Given the description of an element on the screen output the (x, y) to click on. 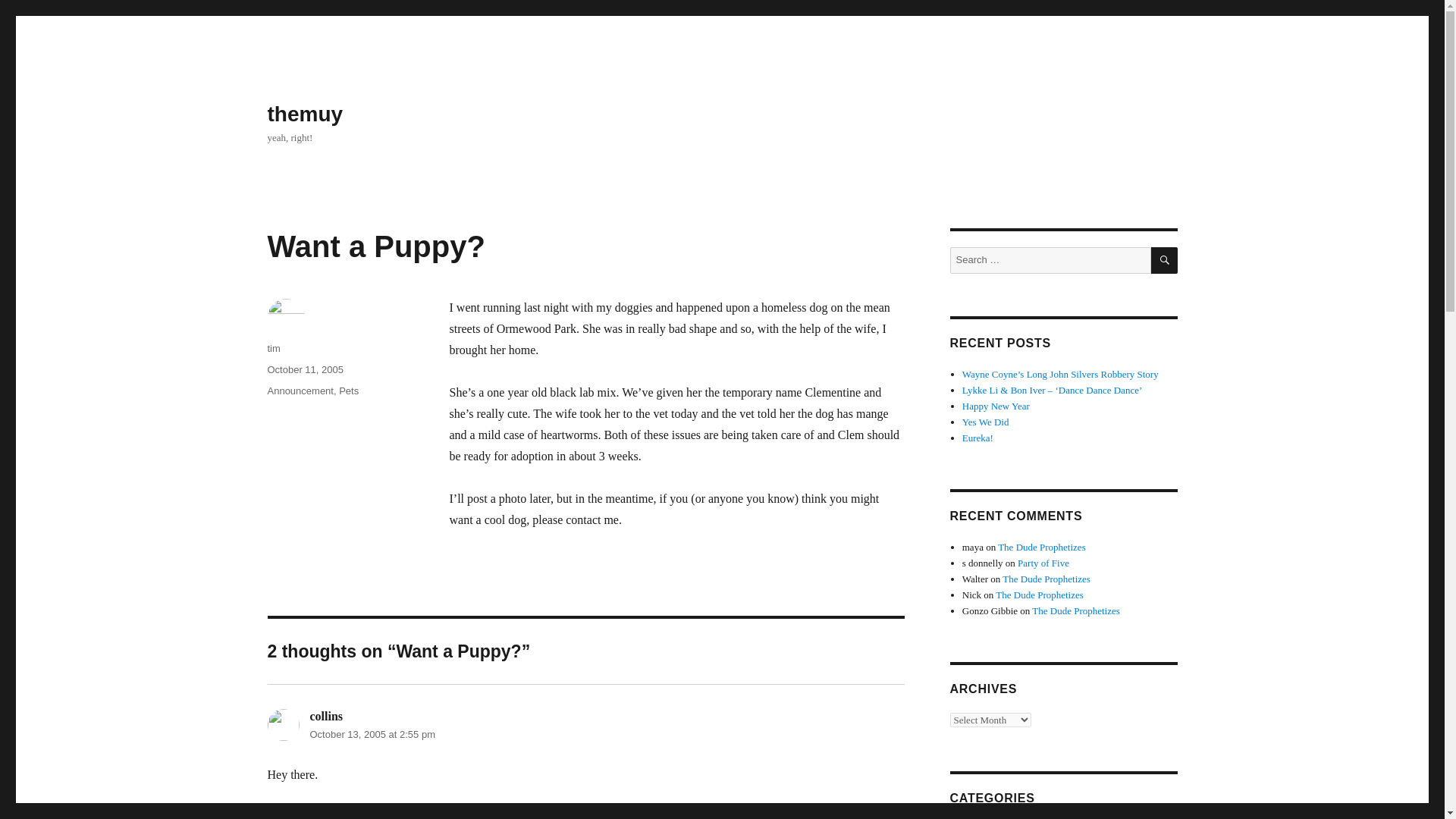
The Dude Prophetizes (1039, 594)
Party of Five (1042, 562)
October 11, 2005 (304, 369)
SEARCH (1164, 260)
The Dude Prophetizes (1041, 546)
tim (272, 348)
Eureka! (977, 437)
October 13, 2005 at 2:55 pm (371, 734)
Yes We Did (985, 421)
Happy New Year (995, 405)
Announcement (299, 390)
Pets (348, 390)
The Dude Prophetizes (1046, 578)
The Dude Prophetizes (1075, 610)
themuy (304, 114)
